Given the description of an element on the screen output the (x, y) to click on. 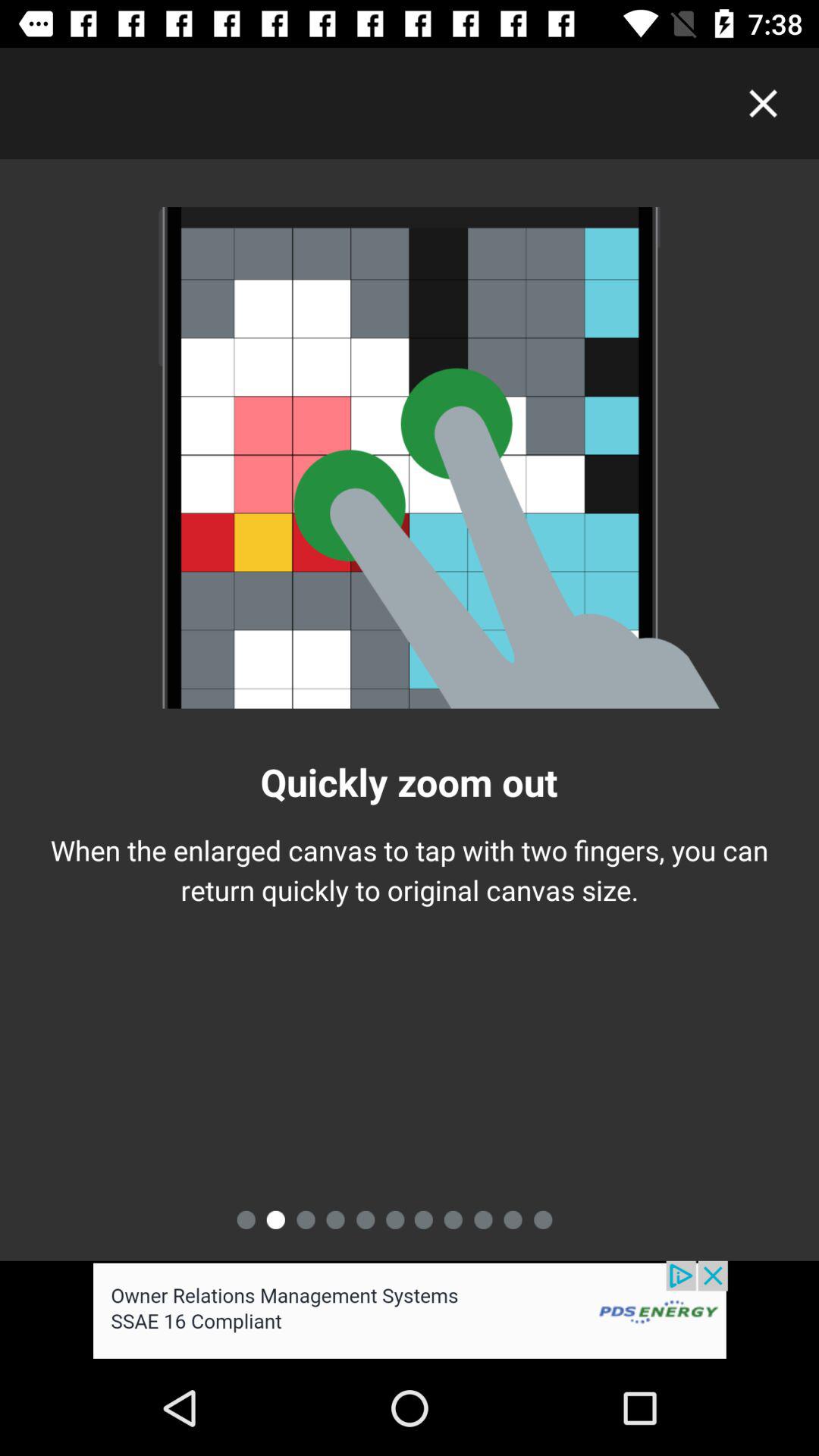
close (763, 103)
